Given the description of an element on the screen output the (x, y) to click on. 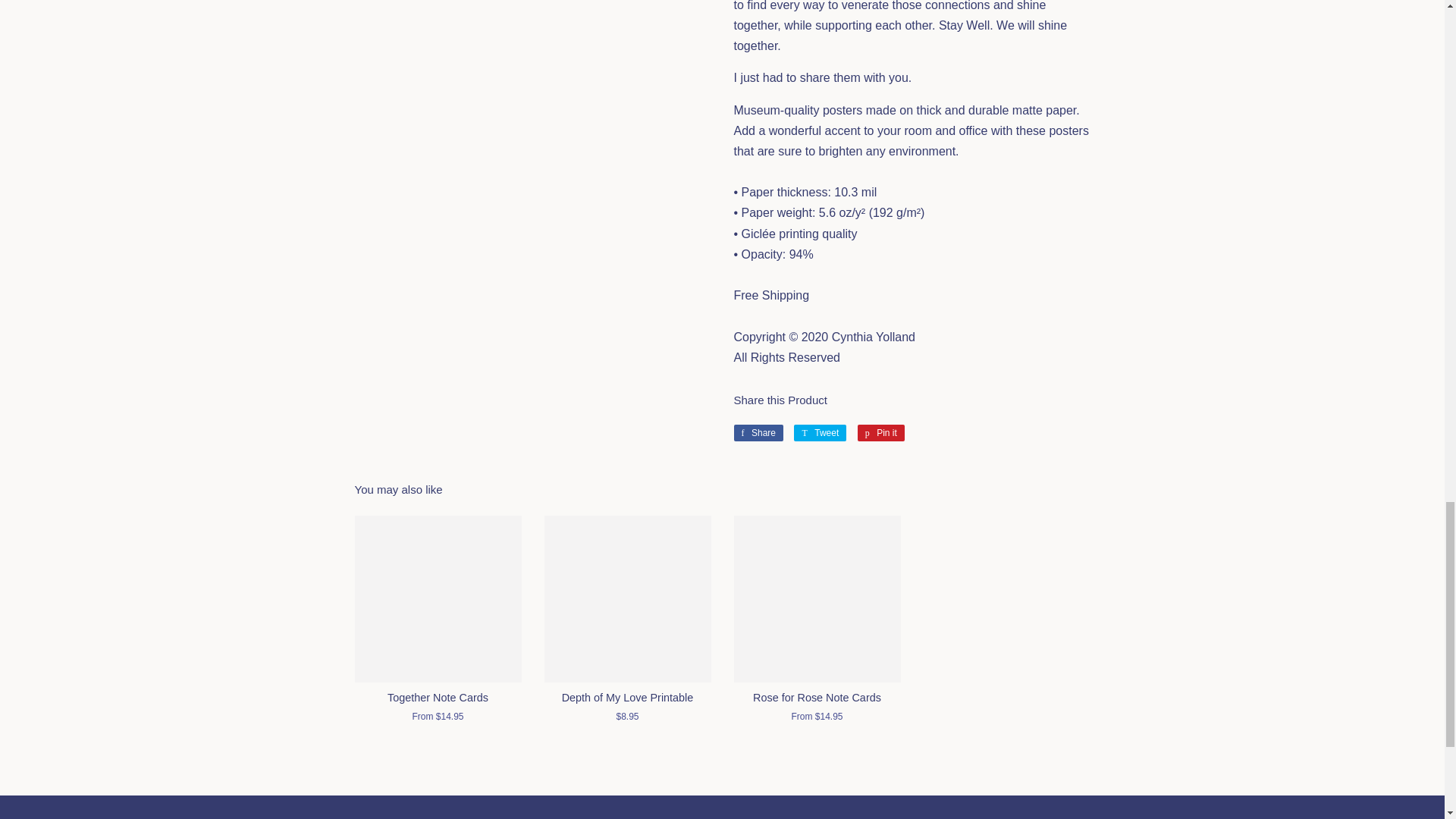
Share on Facebook (819, 433)
Tweet on Twitter (758, 433)
Pin on Pinterest (819, 433)
